Given the description of an element on the screen output the (x, y) to click on. 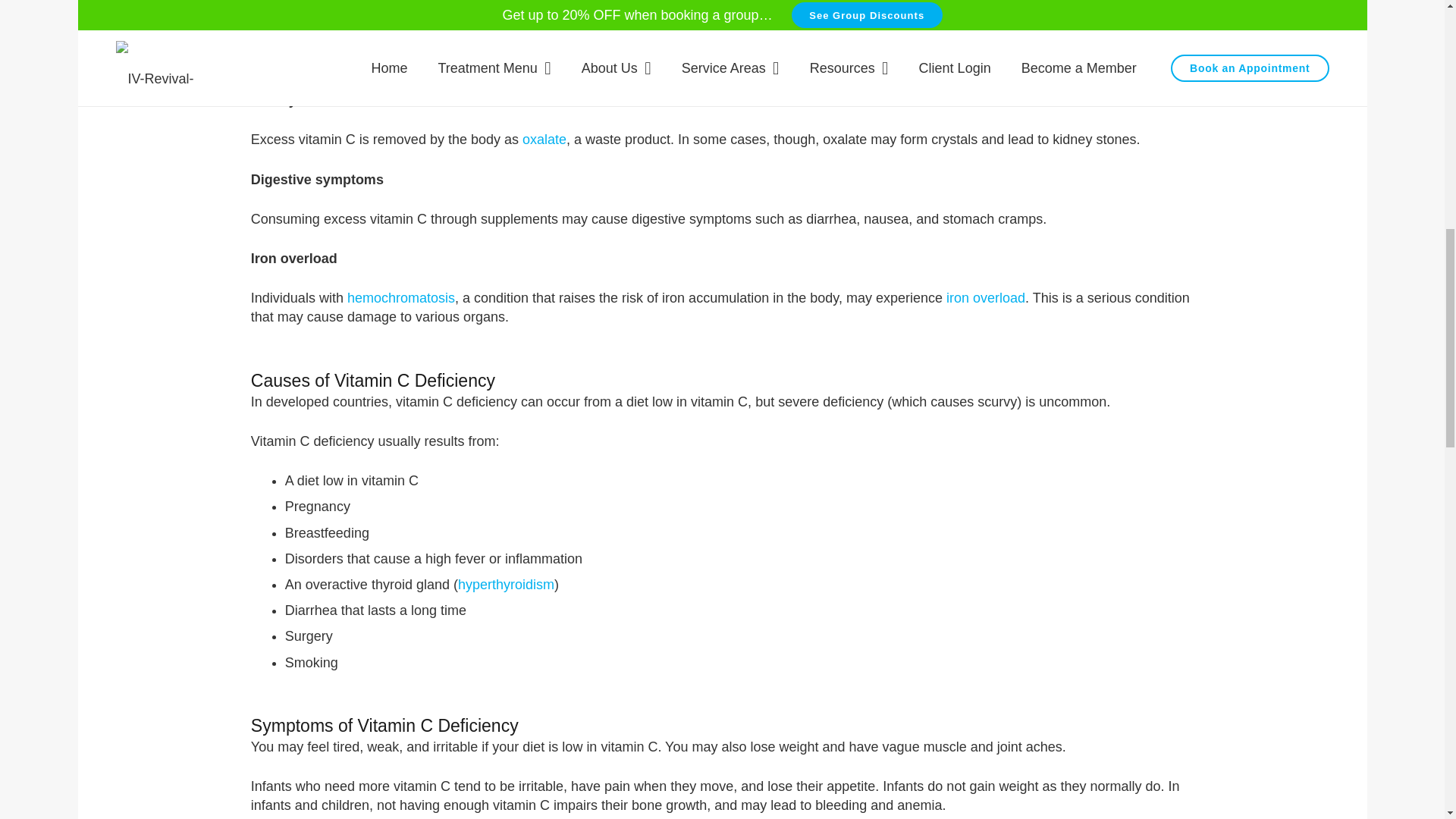
Back to top (1413, 37)
oxalate (544, 139)
hemochromatosis (400, 297)
